Given the description of an element on the screen output the (x, y) to click on. 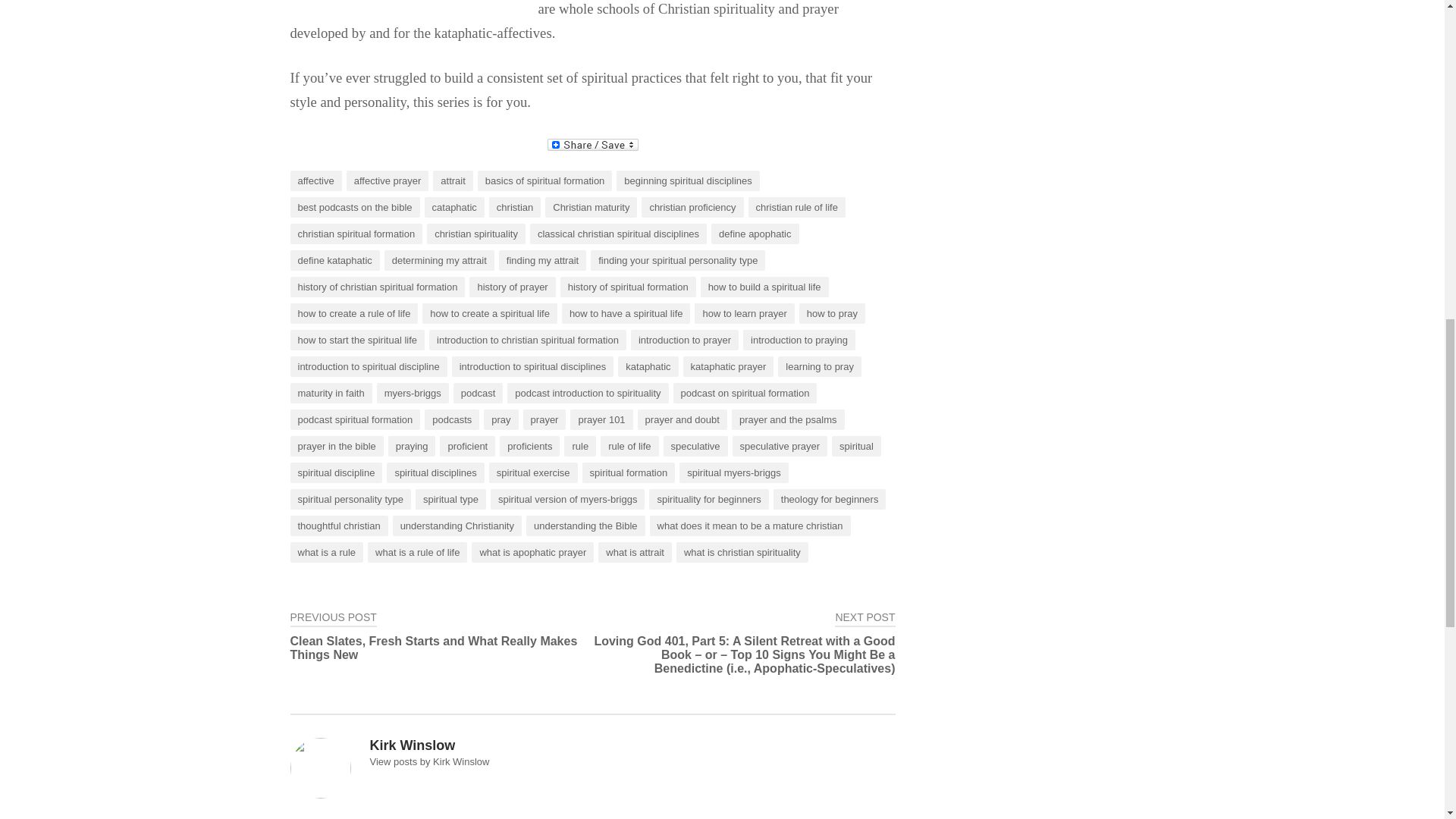
christian spiritual formation (355, 233)
affective (314, 180)
christian (514, 207)
finding your spiritual personality type (678, 260)
christian spirituality (475, 233)
affective prayer (387, 180)
cataphatic (454, 207)
classical christian spiritual disciplines (617, 233)
christian rule of life (796, 207)
determining my attrait (439, 260)
